Given the description of an element on the screen output the (x, y) to click on. 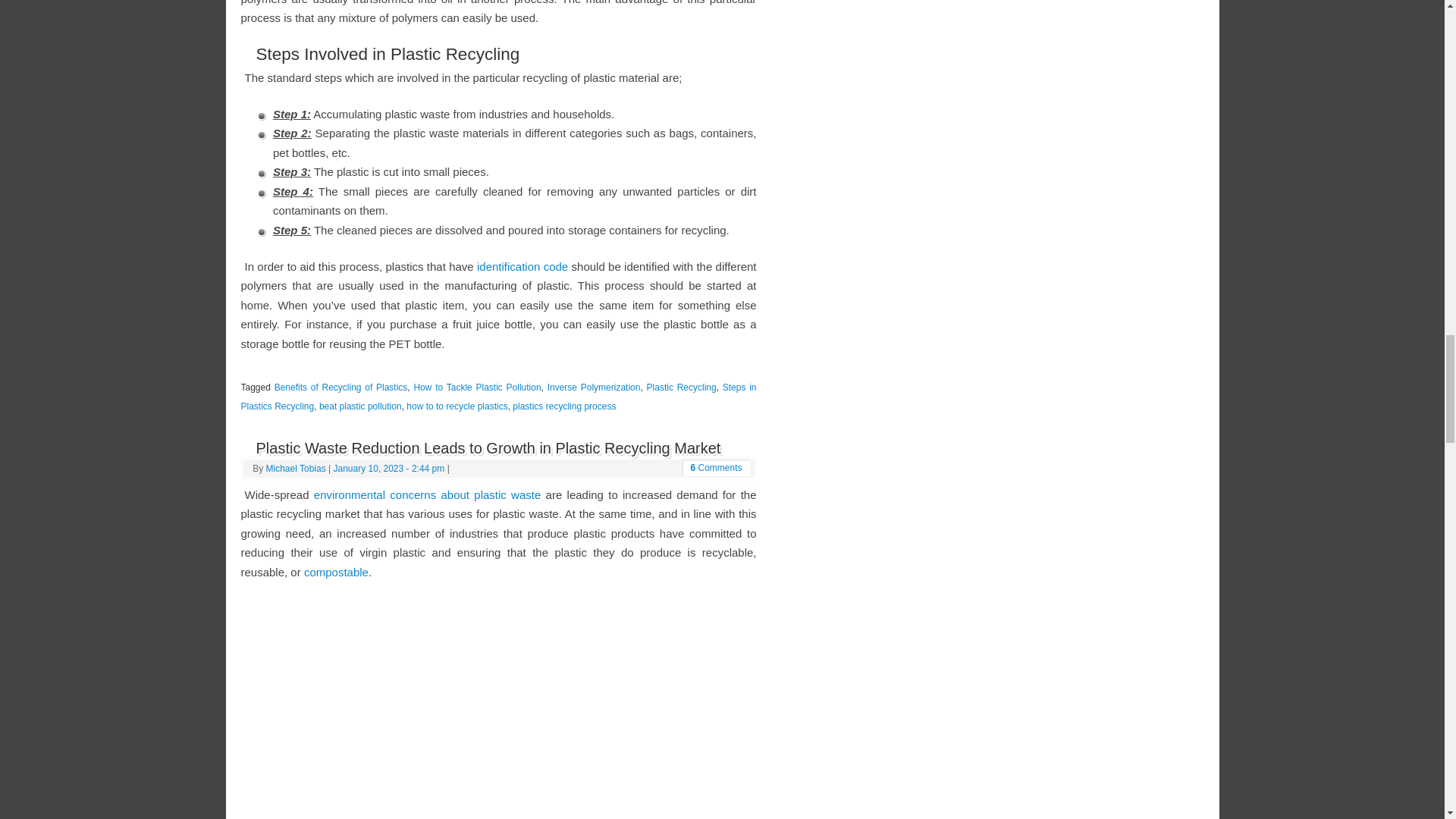
Inverse Polymerization (593, 387)
Plastic Recycling (681, 387)
How to Tackle Plastic Pollution (476, 387)
Steps in Plastics Recycling (499, 397)
how to to recycle plastics (456, 406)
identification code (522, 266)
plastics recycling process (563, 406)
Benefits of Recycling of Plastics (341, 387)
